Given the description of an element on the screen output the (x, y) to click on. 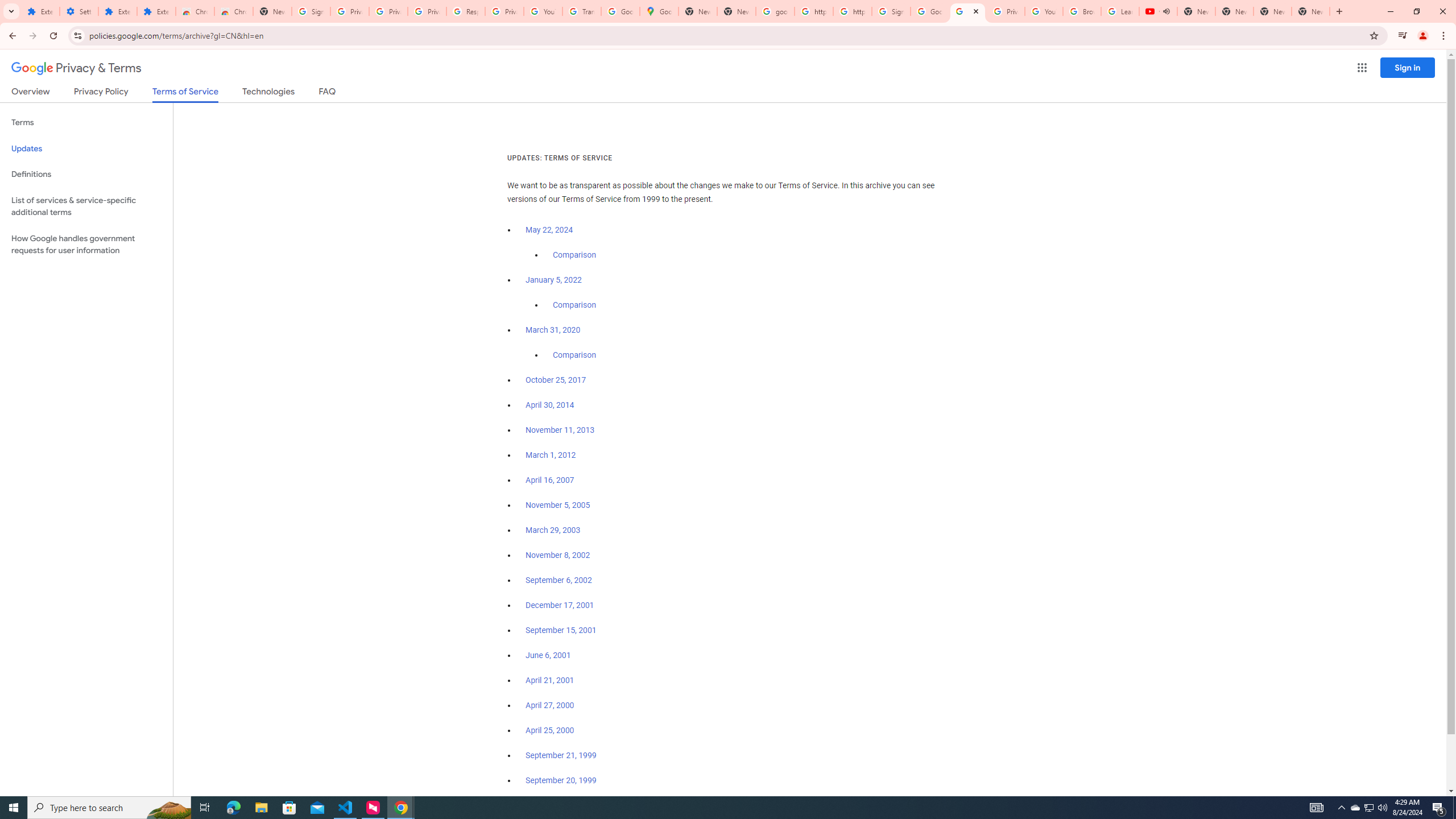
November 8, 2002 (557, 555)
April 25, 2000 (550, 729)
September 6, 2002 (558, 579)
Browse Chrome as a guest - Computer - Google Chrome Help (1082, 11)
Sign in - Google Accounts (310, 11)
September 20, 1999 (560, 780)
April 16, 2007 (550, 480)
Extensions (156, 11)
https://scholar.google.com/ (852, 11)
April 27, 2000 (550, 705)
May 22, 2024 (549, 230)
Chrome Web Store - Themes (233, 11)
